Given the description of an element on the screen output the (x, y) to click on. 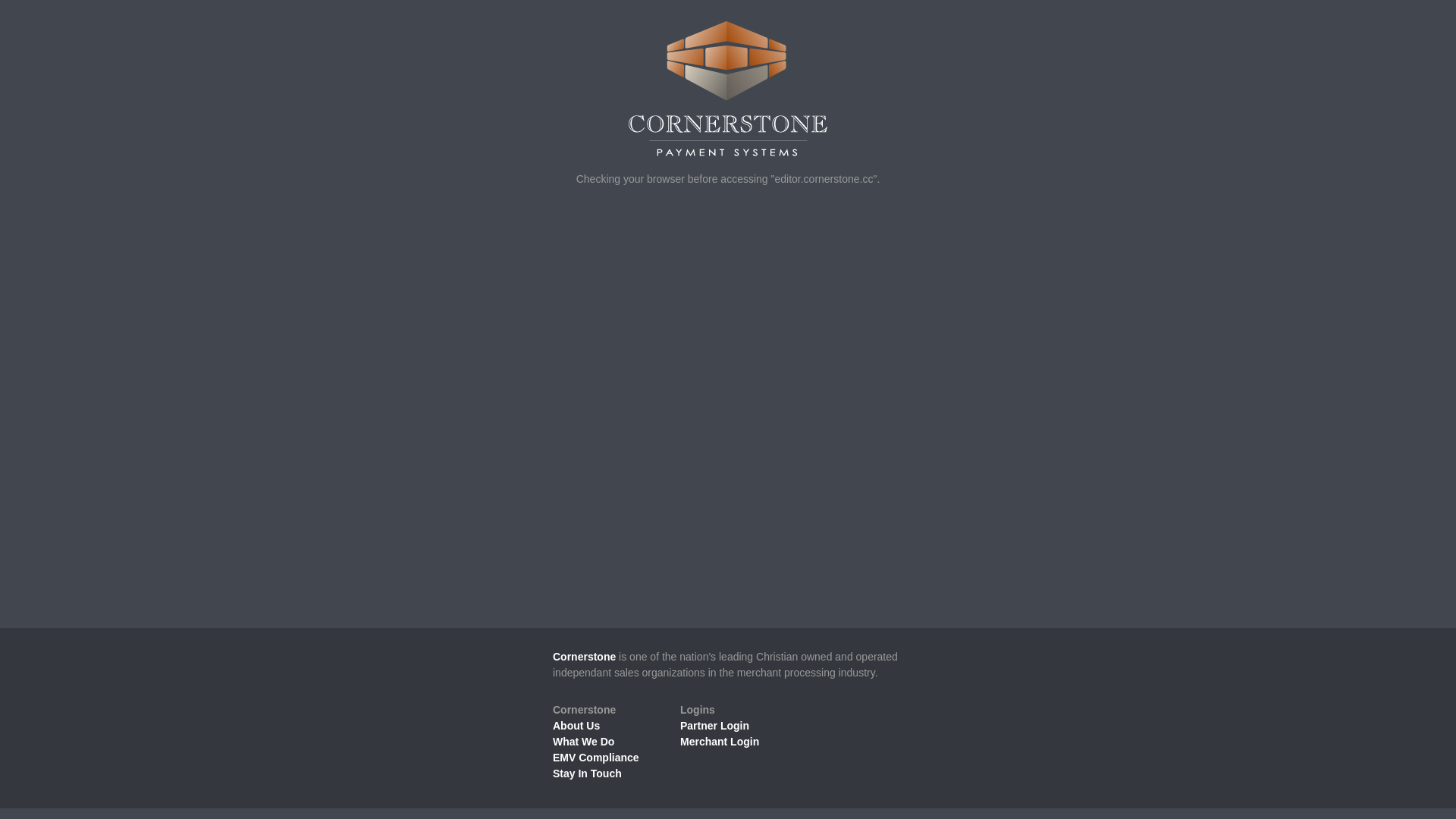
Partner Login Element type: text (714, 725)
Cornerstone Element type: text (583, 656)
Stay In Touch Element type: text (586, 773)
EMV Compliance Element type: text (595, 757)
What We Do Element type: text (583, 741)
About Us Element type: text (575, 725)
Merchant Login Element type: text (719, 741)
